Given the description of an element on the screen output the (x, y) to click on. 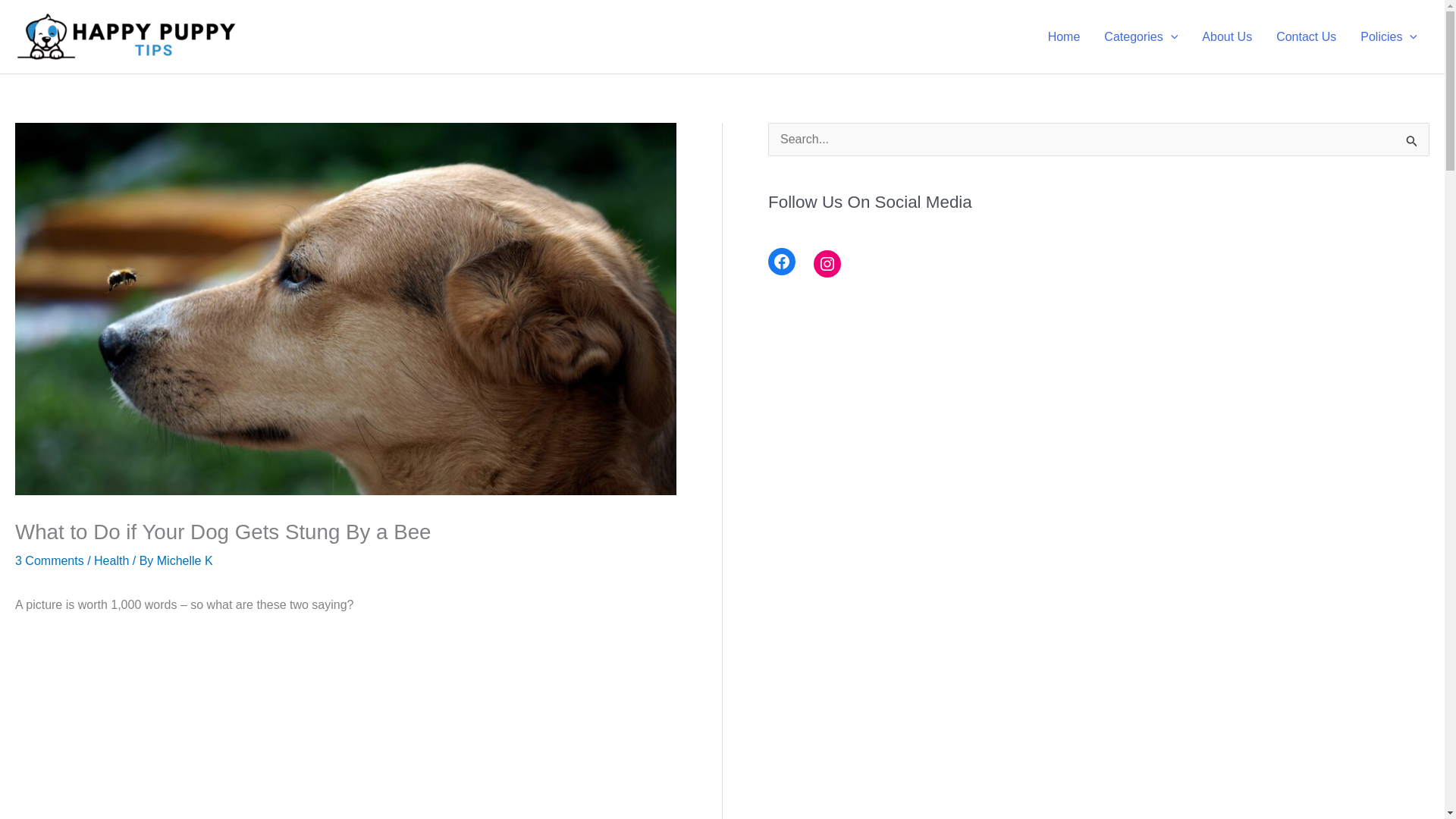
Policies (1388, 36)
Categories (1140, 36)
View all posts by Michelle K (184, 560)
Contact Us (1305, 36)
Home (1064, 36)
About Us (1226, 36)
Advertisement (309, 727)
